Given the description of an element on the screen output the (x, y) to click on. 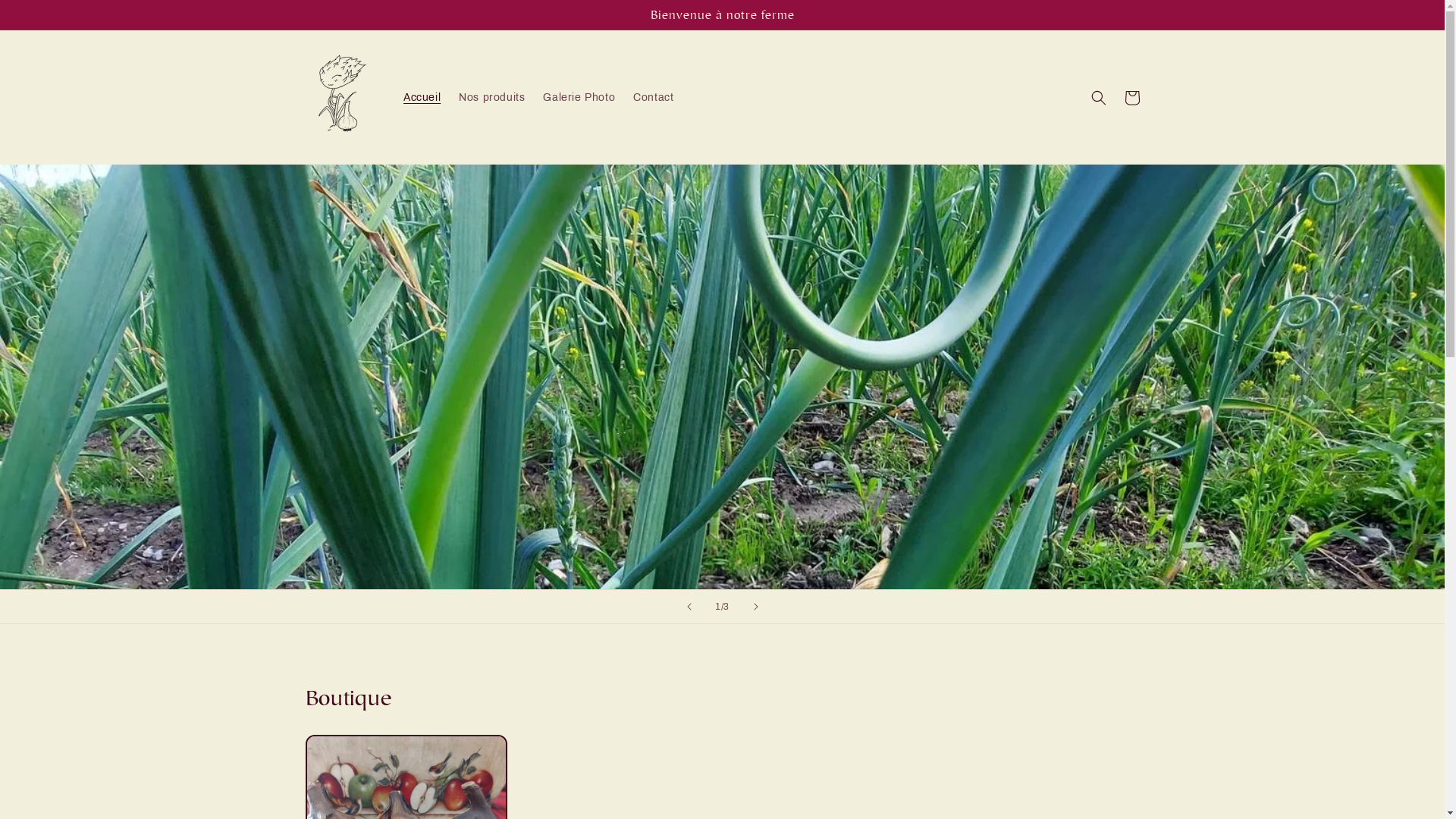
Nos produits Element type: text (491, 97)
Panier Element type: text (1131, 97)
Accueil Element type: text (421, 97)
Contact Element type: text (653, 97)
Galerie Photo Element type: text (578, 97)
